Given the description of an element on the screen output the (x, y) to click on. 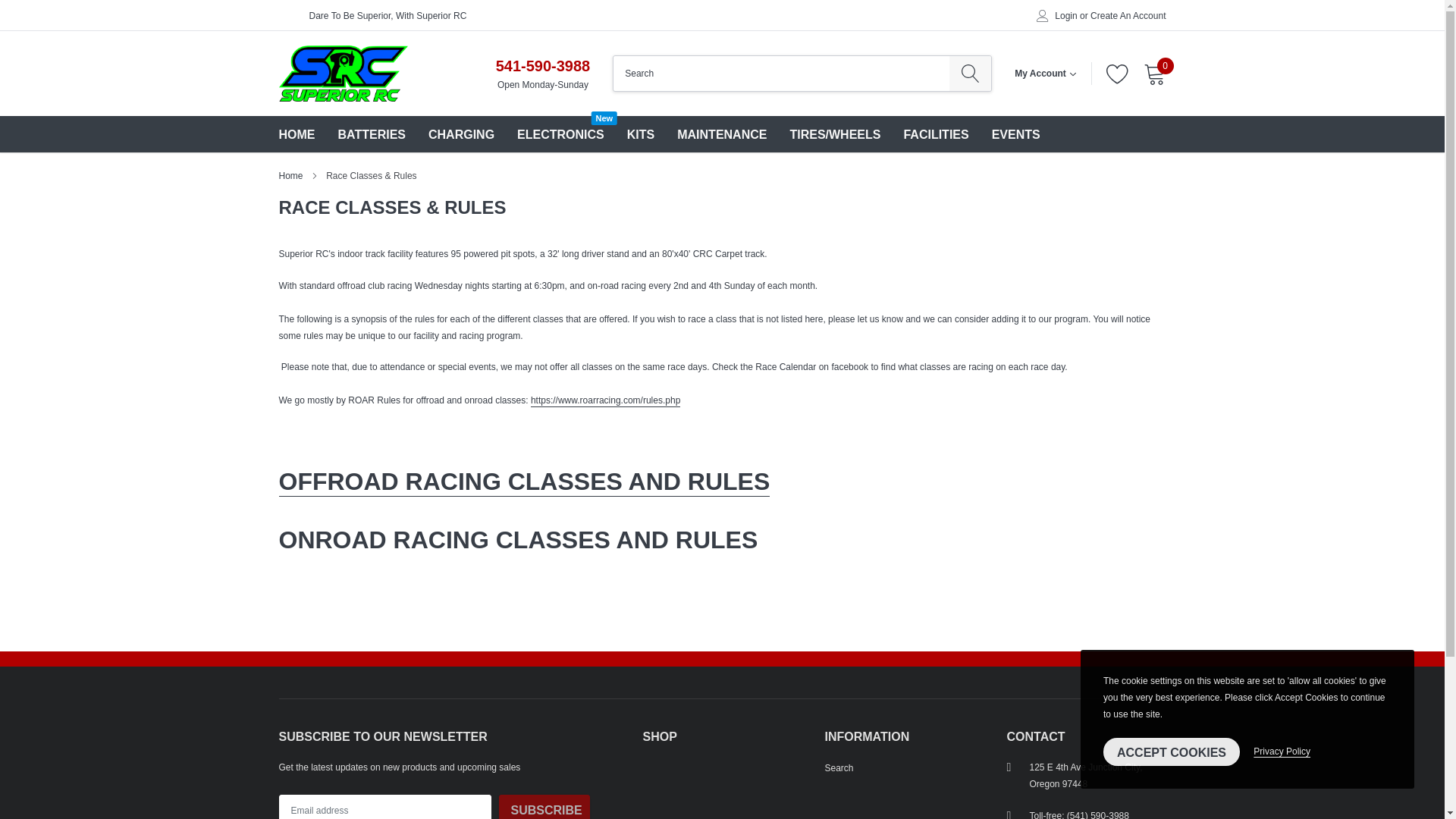
BATTERIES (371, 133)
CHARGING (461, 133)
Subscribe (544, 806)
HOME (297, 133)
Create An Account (1128, 15)
541-590-3988 (543, 65)
My Account (1044, 72)
search (970, 73)
Login (1065, 15)
0 (560, 133)
